Given the description of an element on the screen output the (x, y) to click on. 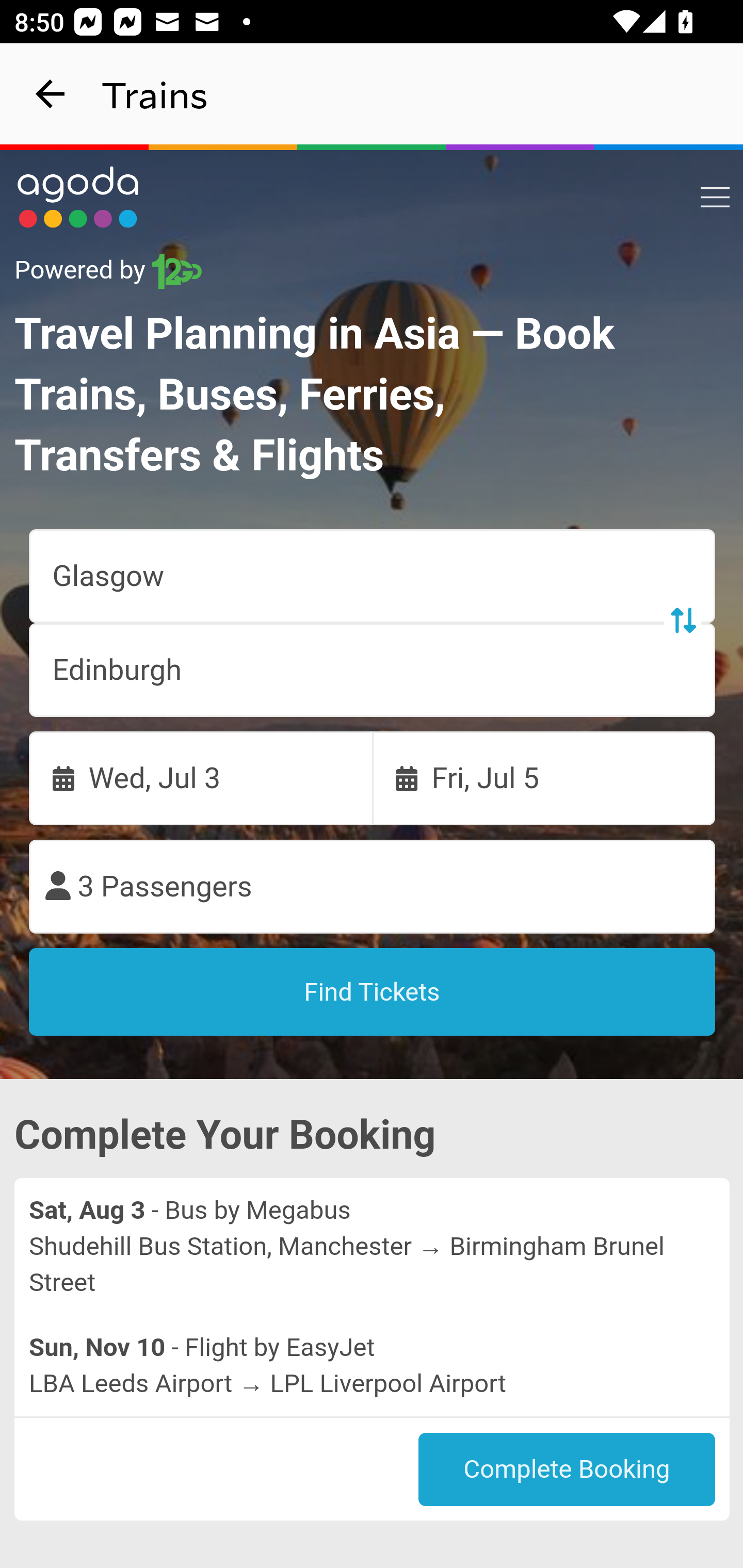
navigation_button (50, 93)
Link to main page 5418 (78, 197)
Glasgow Swap trip points (372, 576)
Swap trip points (682, 619)
Edinburgh (372, 670)
Wed, Jul 3 Fri, Jul 5 (372, 778)
Wed, Jul 3 (200, 778)
Fri, Jul 5 (544, 778)
 3 Passengers (372, 887)
Find Tickets (372, 992)
Complete Booking (566, 1469)
